Given the description of an element on the screen output the (x, y) to click on. 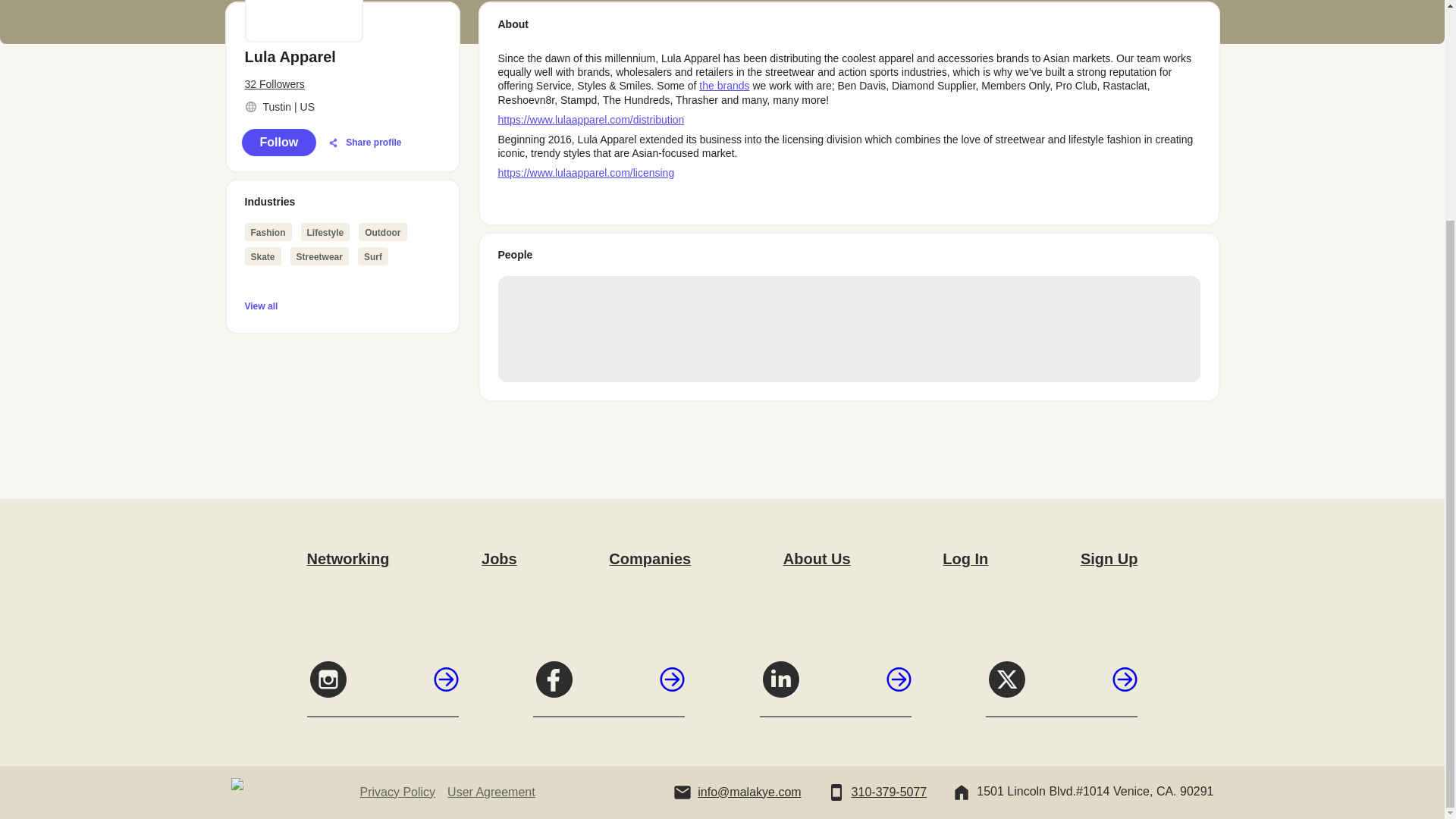
Sign Up (1109, 558)
the brands (723, 85)
About Us (816, 558)
Log In (965, 558)
Jobs (498, 558)
Follow (278, 142)
Networking (346, 558)
View all (341, 305)
Share profile (364, 143)
310-379-5077 (889, 791)
